Given the description of an element on the screen output the (x, y) to click on. 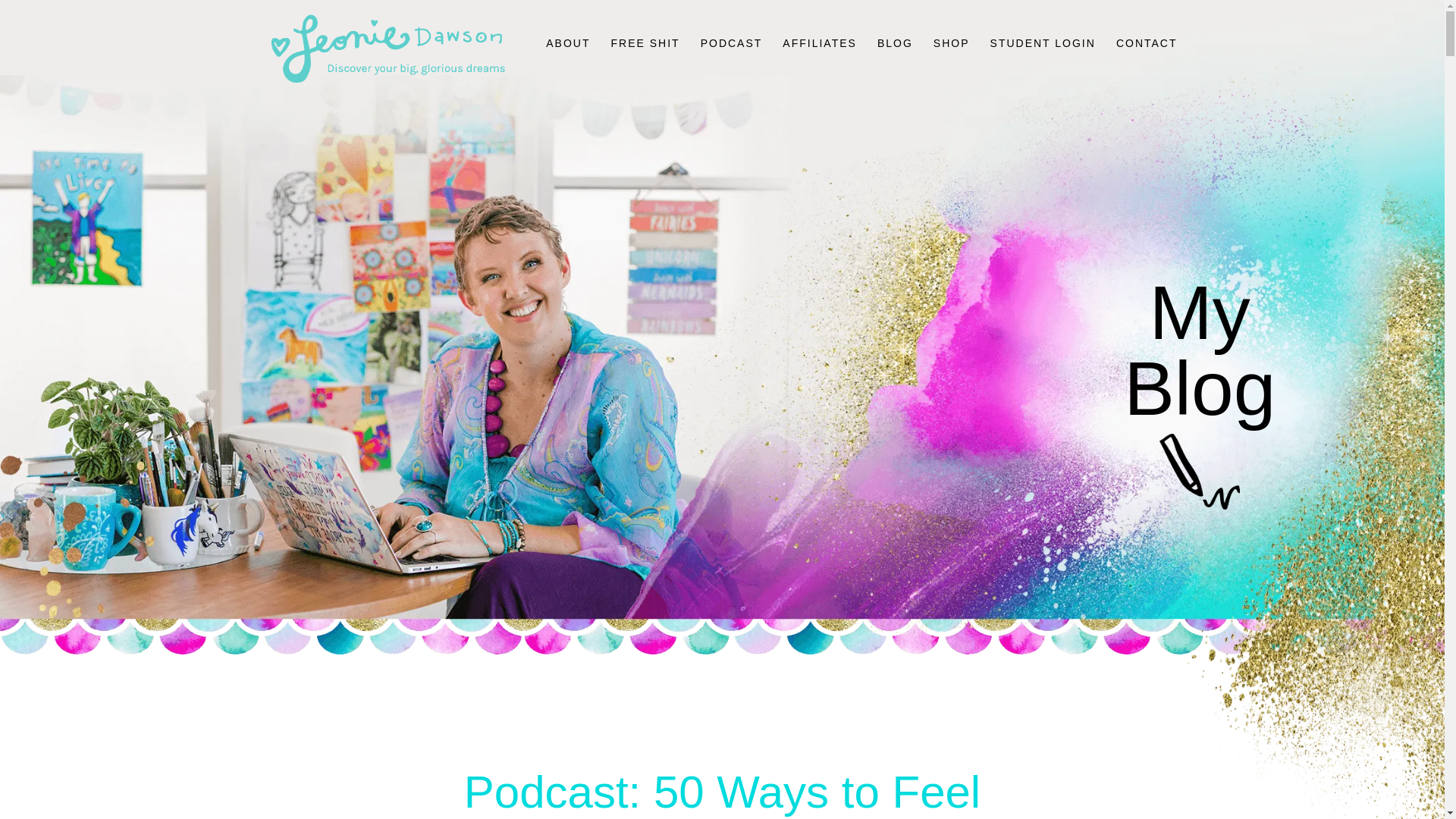
ABOUT (567, 61)
STUDENT LOGIN (1043, 61)
AFFILIATES (820, 61)
CONTACT (1146, 61)
PODCAST (731, 61)
FREE SHIT (645, 61)
